Given the description of an element on the screen output the (x, y) to click on. 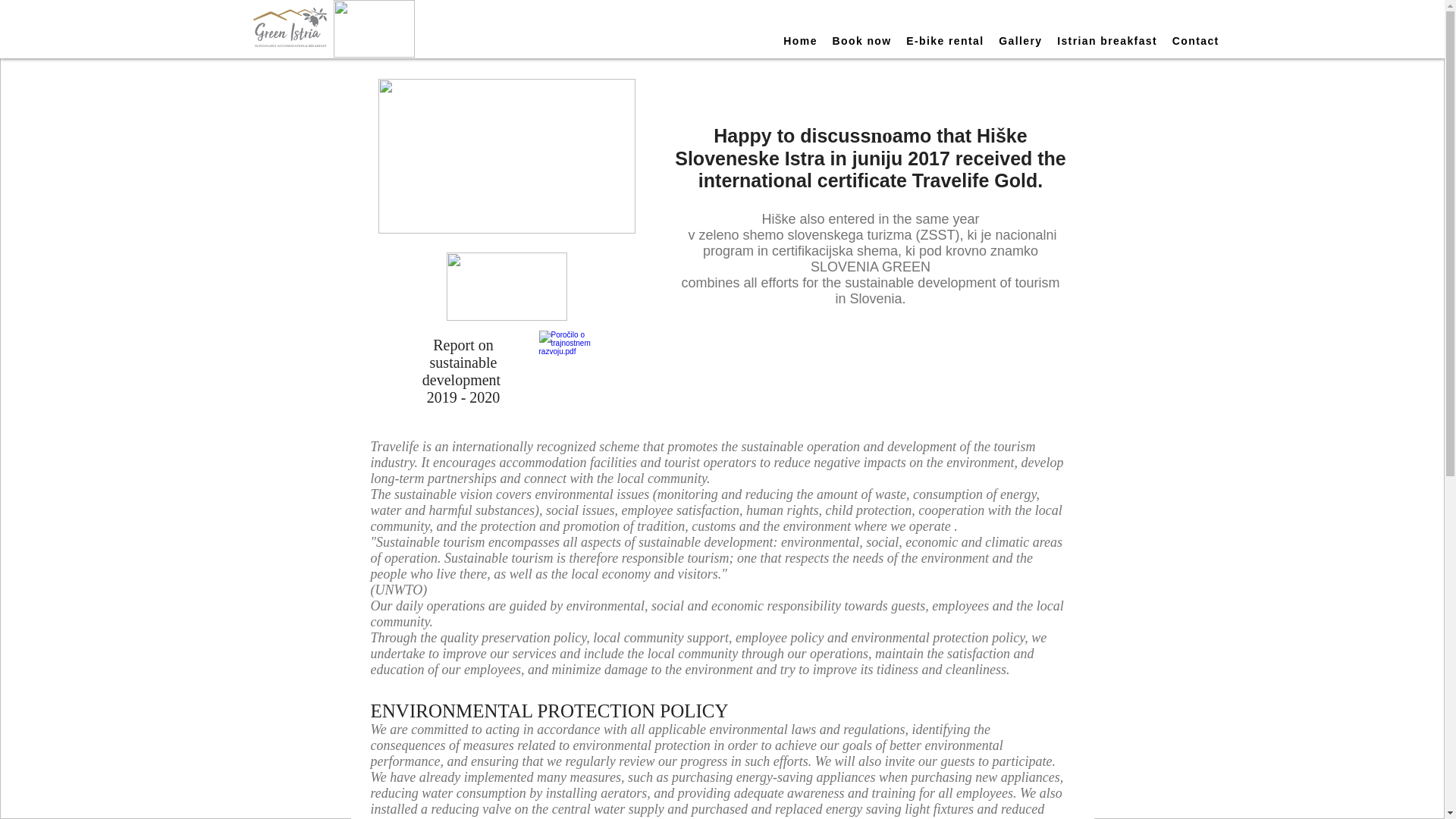
Istrian breakfast (1106, 41)
CONTACT (904, 24)
Gallery (1020, 41)
GALLERY (708, 24)
Make a reservation! (1024, 23)
ROOMS (533, 24)
THE OFFER (615, 24)
Home (800, 41)
Contact (1195, 41)
ACTIVITIES (810, 24)
